Given the description of an element on the screen output the (x, y) to click on. 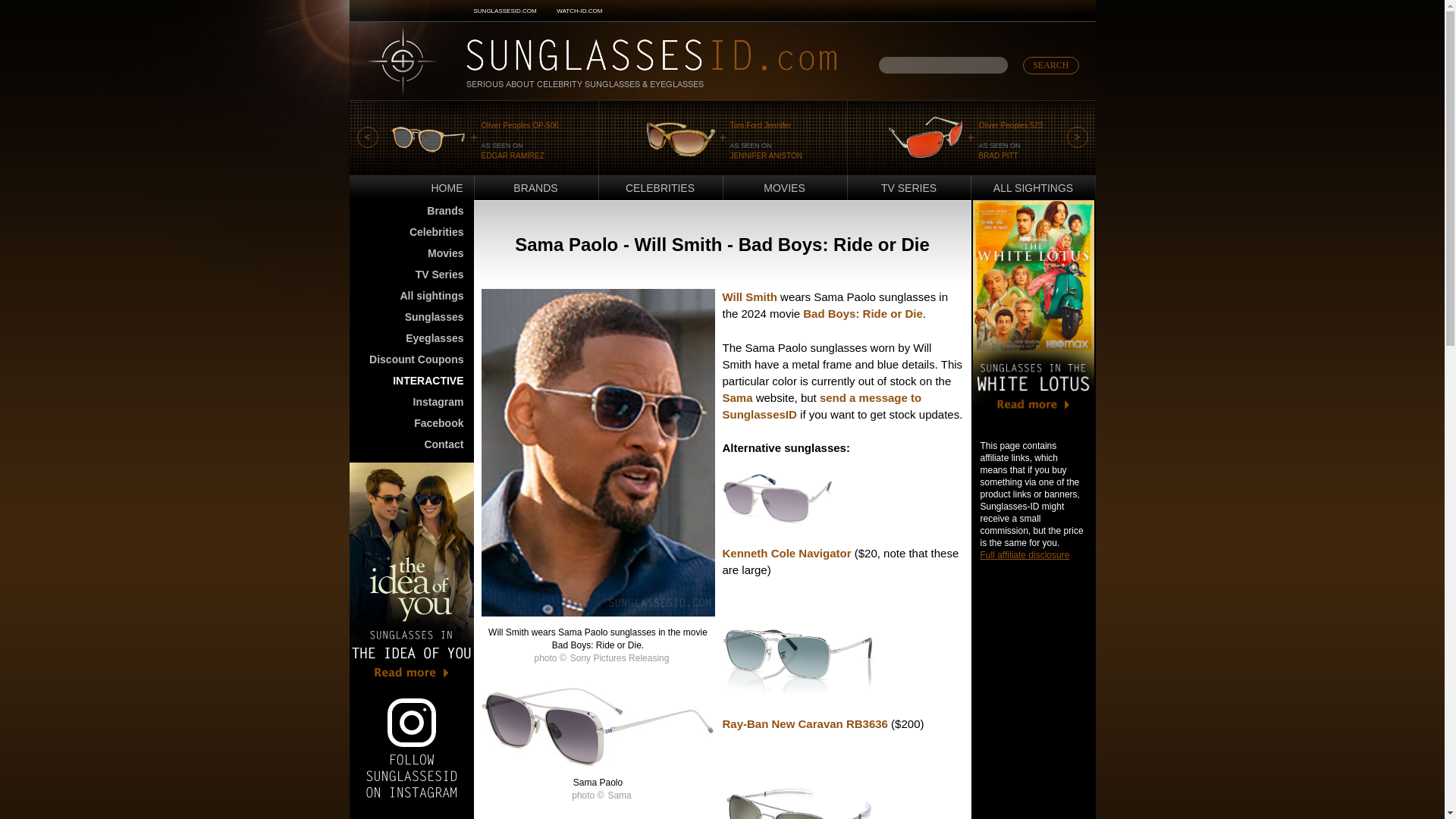
Oliver Peoples OP-506 (518, 125)
Search (1050, 65)
Will Smith (749, 296)
Oliver Peoples 523 (924, 139)
JENNIFER ANISTON (765, 155)
Tom Ford Jennifer (680, 139)
WATCH-ID.COM (579, 10)
Oliver Peoples 523 (1010, 125)
Sama (737, 397)
Bad Boys: Ride or Die (863, 313)
Sama Paolo (597, 762)
Oliver Peoples OP-506 (427, 139)
BRAD PITT (997, 155)
Tom Ford Jennifer (759, 125)
